Given the description of an element on the screen output the (x, y) to click on. 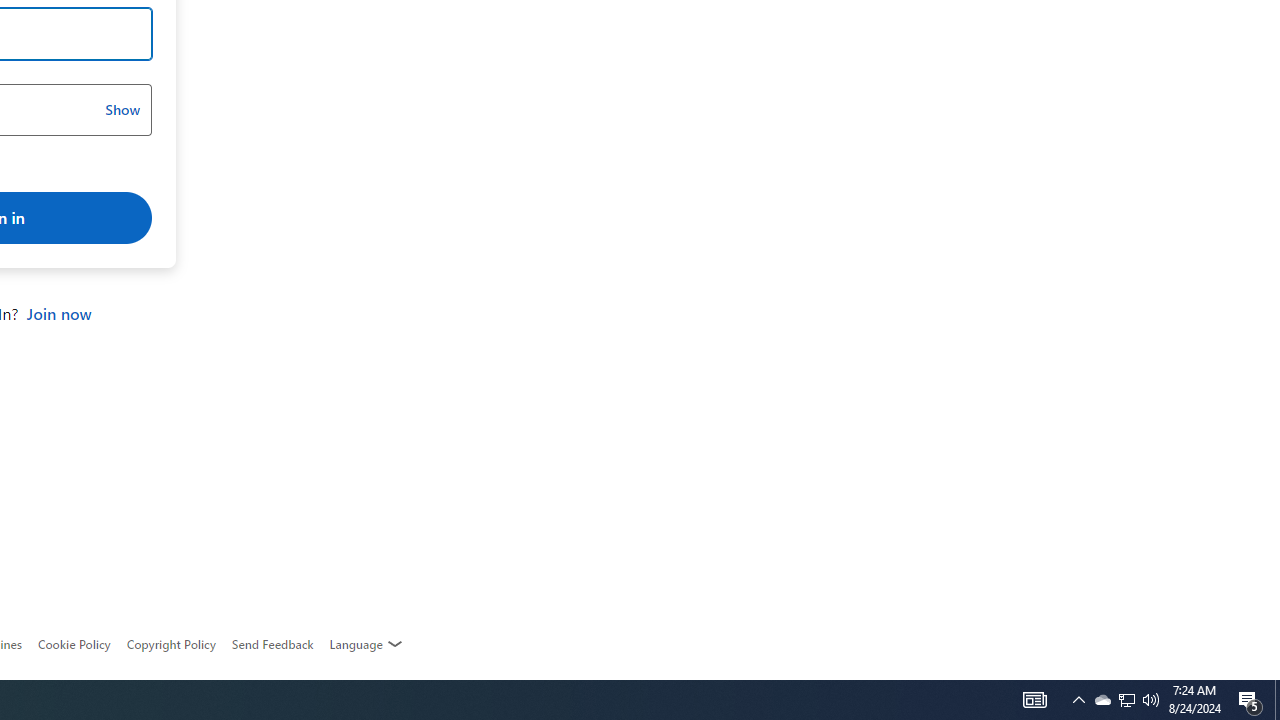
AutomationID: feedback-request (272, 643)
Language (365, 643)
Show (122, 110)
Cookie Policy (74, 643)
Join now (58, 314)
Copyright Policy (170, 643)
Send Feedback (271, 643)
